Given the description of an element on the screen output the (x, y) to click on. 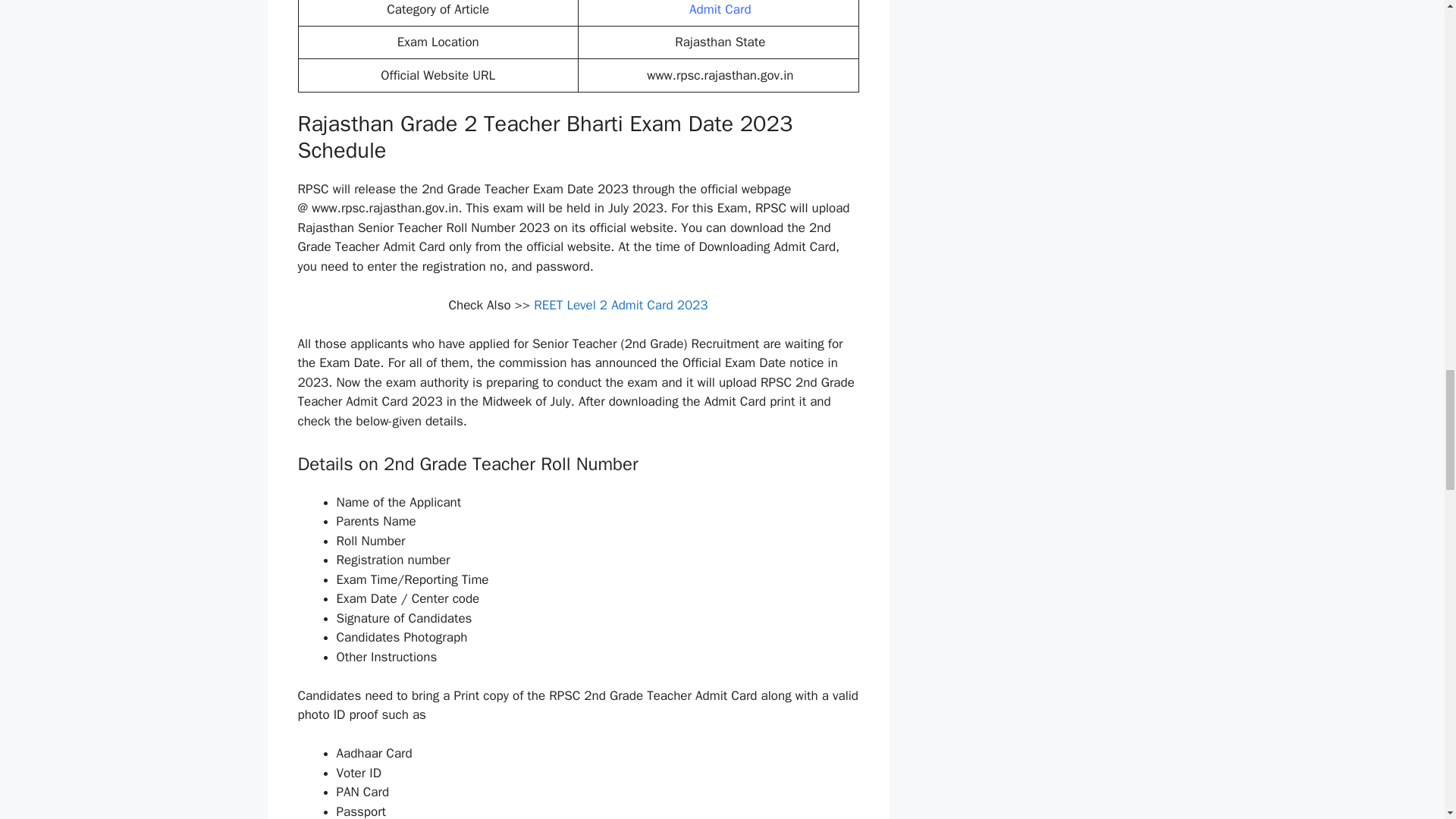
Admit Card (719, 9)
REET Level 2 Admit Card 2023 (620, 304)
